Given the description of an element on the screen output the (x, y) to click on. 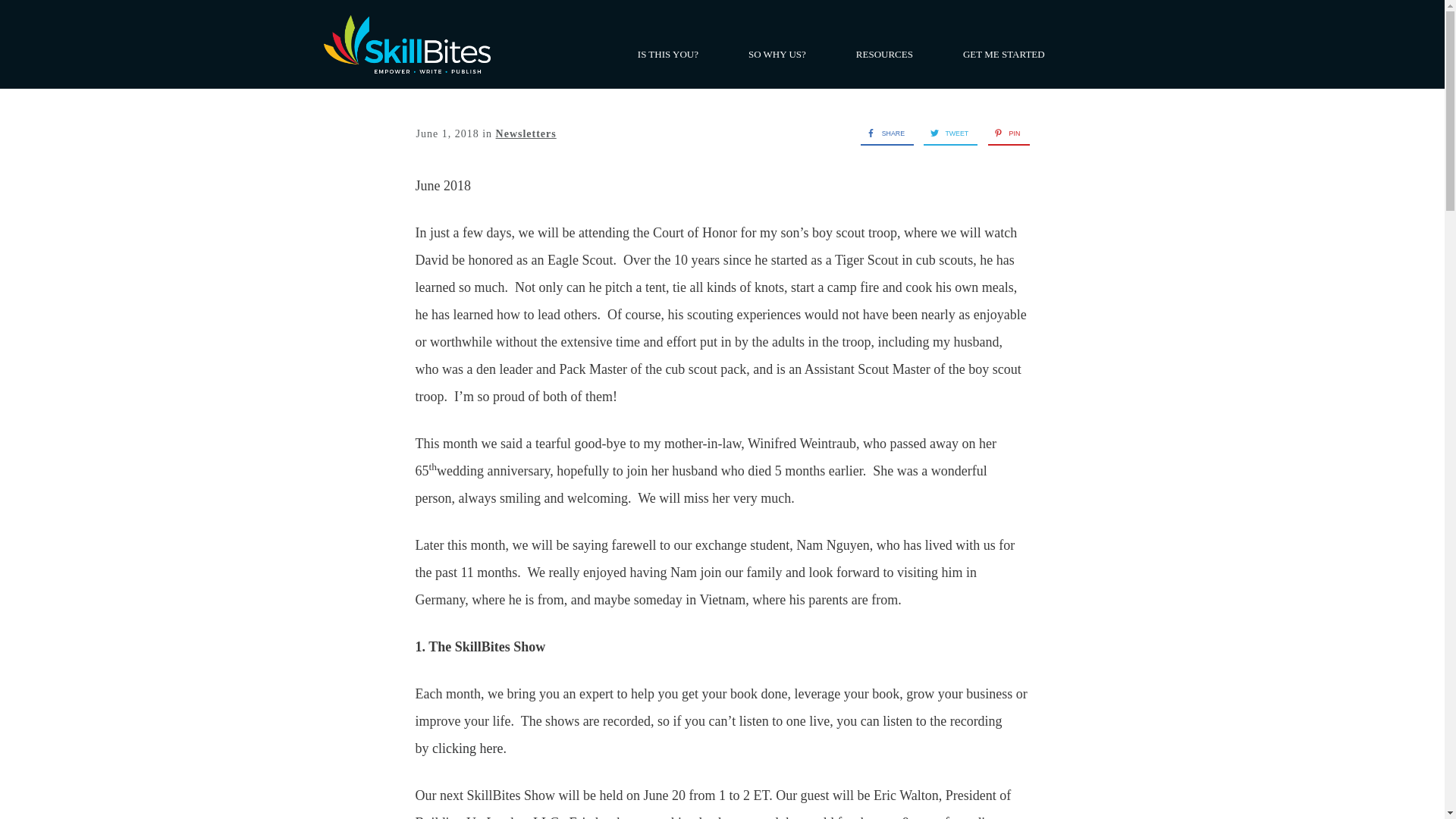
TWEET (945, 133)
RESOURCES (884, 54)
Newsletters (526, 133)
PIN (1004, 133)
IS THIS YOU? (667, 54)
SHARE (882, 133)
GET ME STARTED (1003, 54)
SO WHY US? (777, 54)
Newsletters (526, 133)
clicking here (467, 748)
